Given the description of an element on the screen output the (x, y) to click on. 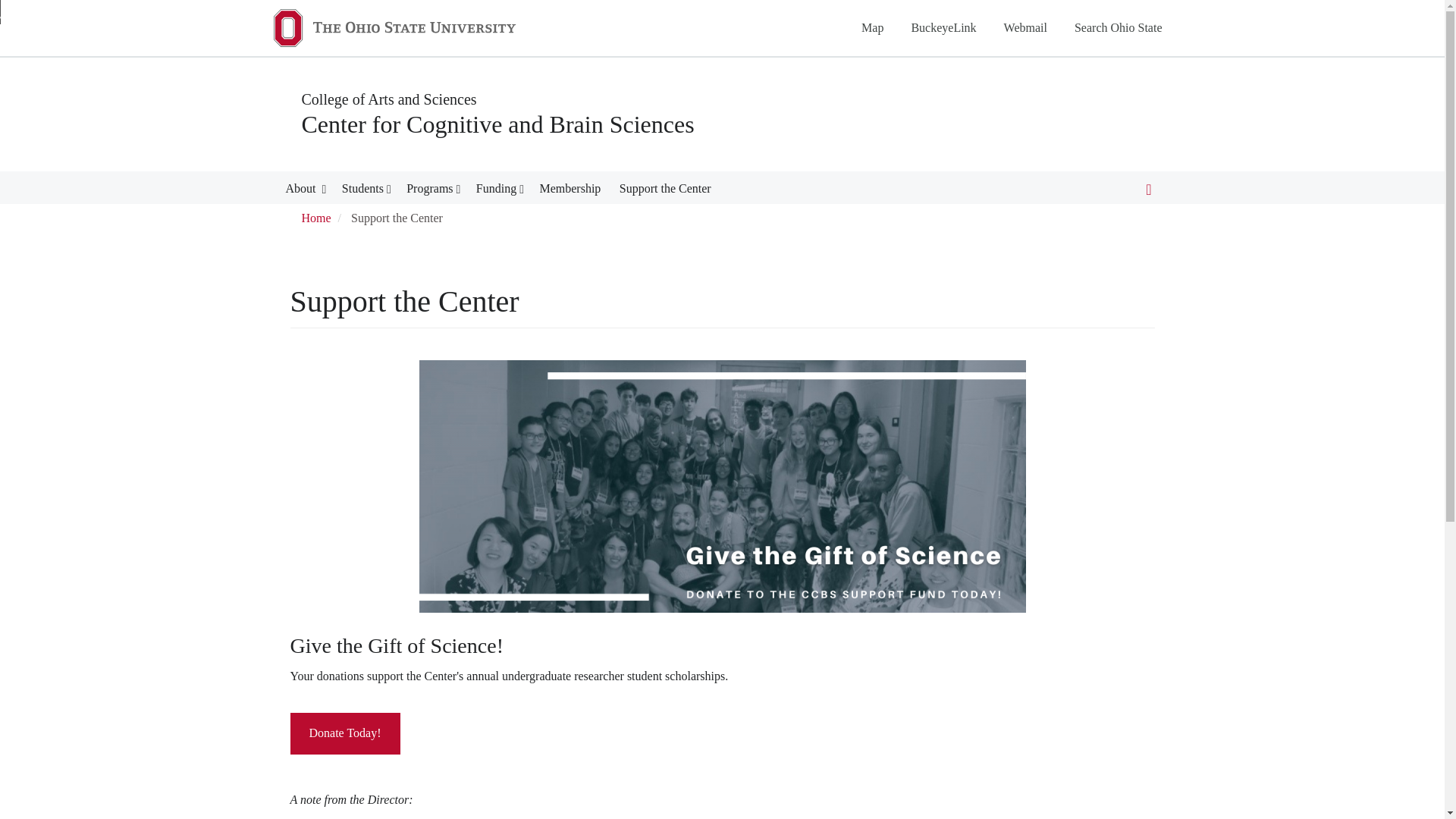
Search Ohio State (1117, 27)
Map (872, 27)
Webmail (1025, 27)
About (301, 191)
College of Arts and Sciences (389, 98)
Students (363, 191)
Programs (429, 191)
Information and history (301, 191)
BuckeyeLink (943, 27)
Center for Cognitive and Brain Sciences (497, 124)
